Given the description of an element on the screen output the (x, y) to click on. 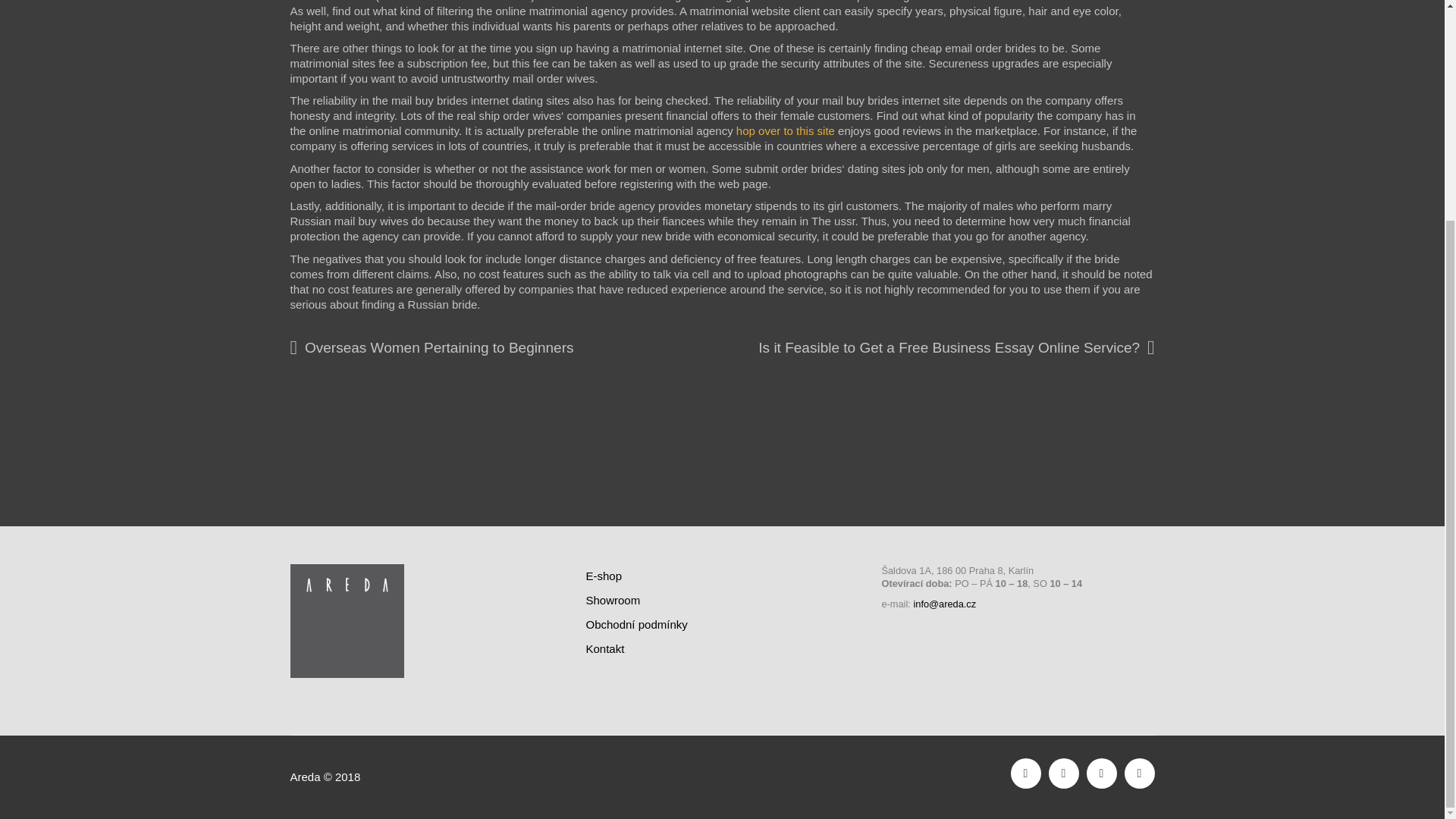
Facebook (1025, 481)
Behance (1139, 481)
Pinterest (1101, 481)
hop over to this site (785, 130)
Instagram (1063, 481)
